Given the description of an element on the screen output the (x, y) to click on. 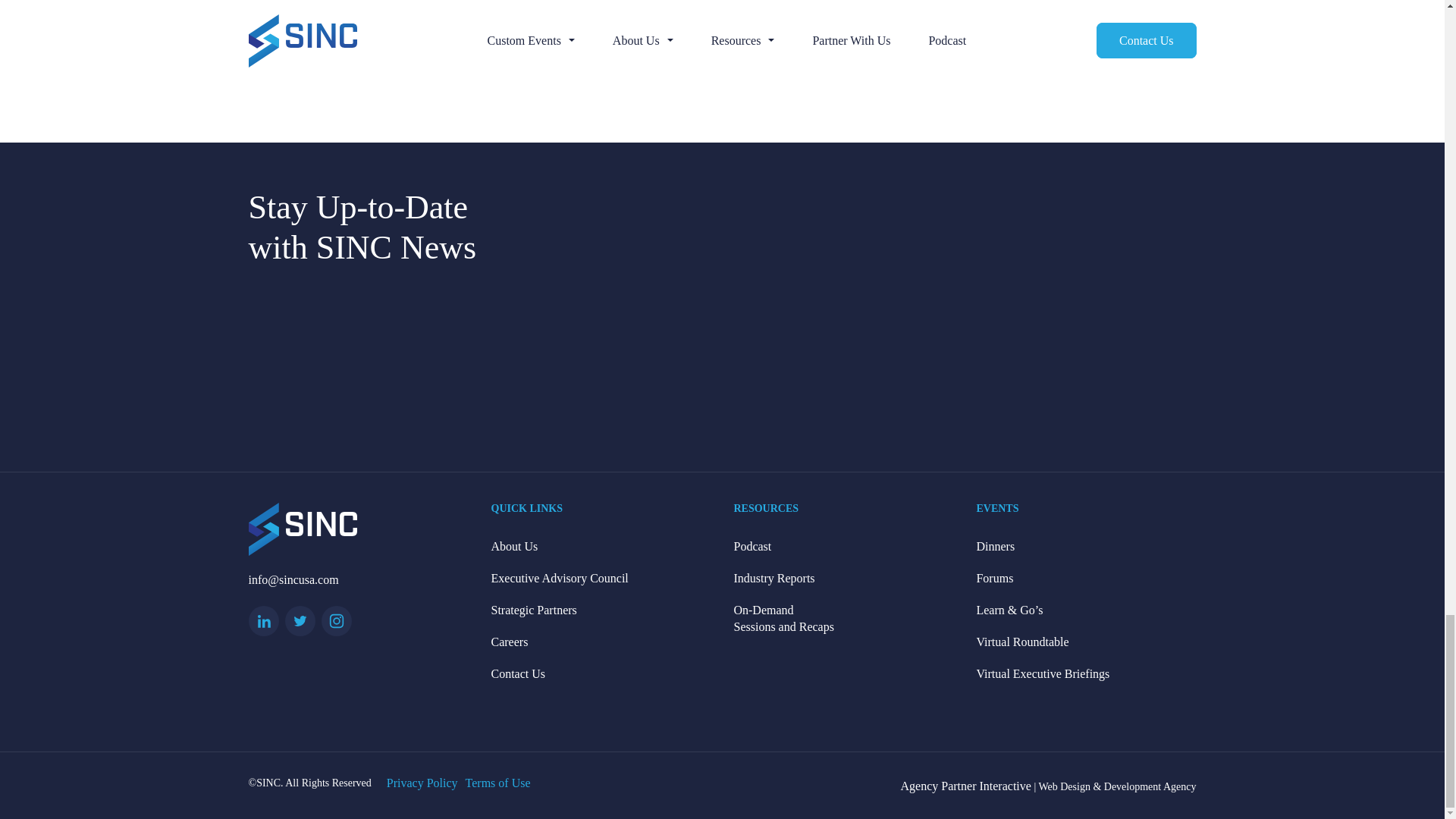
Executive Advisory Council (601, 578)
Strategic Partners (601, 610)
About Us (601, 546)
